Given the description of an element on the screen output the (x, y) to click on. 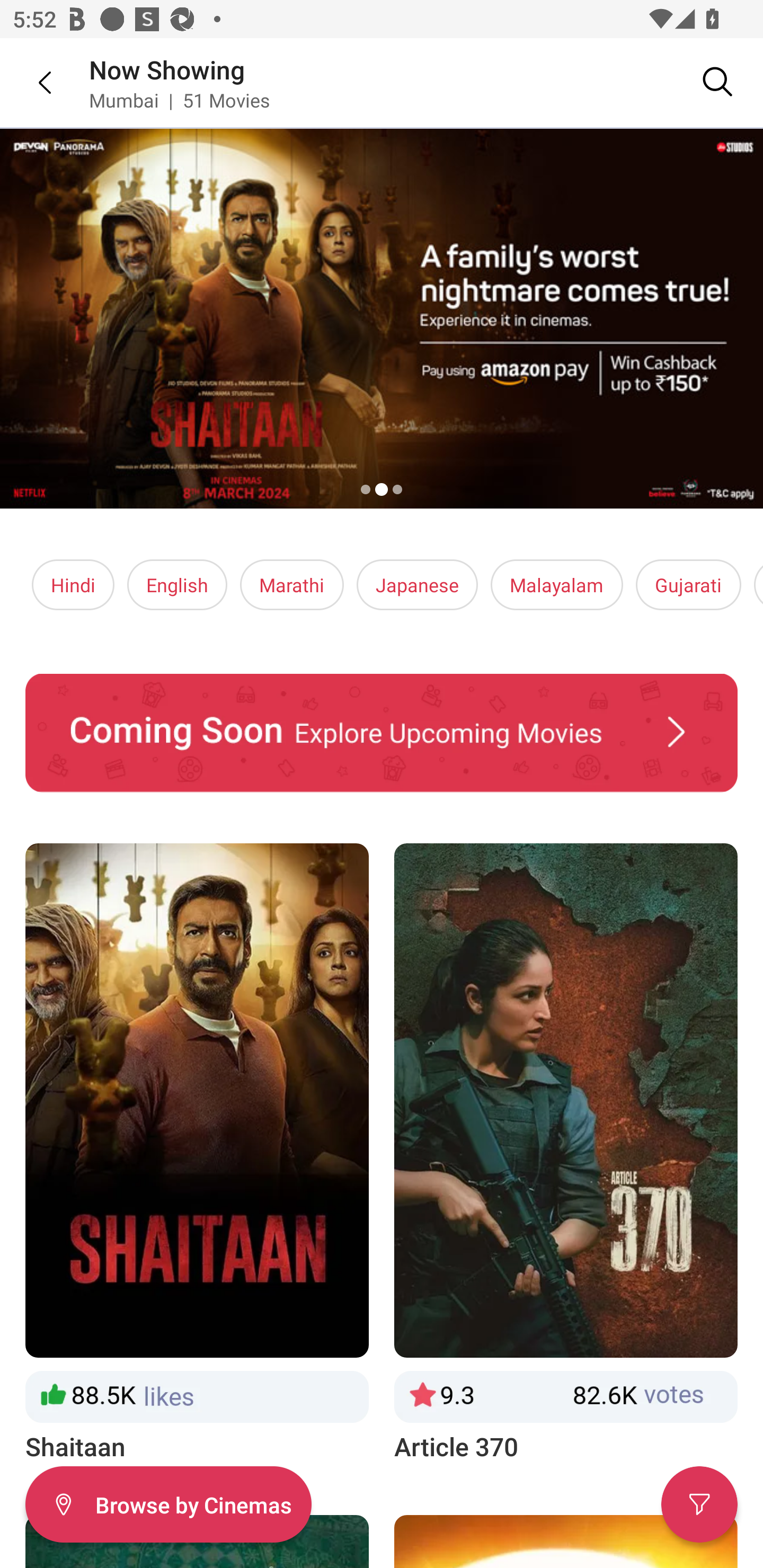
Back (31, 82)
Now Showing (166, 68)
Mumbai  |  51 Movies (179, 99)
Hindi (73, 584)
English (177, 584)
Marathi (292, 584)
Japanese (416, 584)
Malayalam (556, 584)
Gujarati (688, 584)
Shaitaan (196, 1153)
Article 370 (565, 1153)
Filter Browse by Cinemas (168, 1504)
Filter (699, 1504)
